Given the description of an element on the screen output the (x, y) to click on. 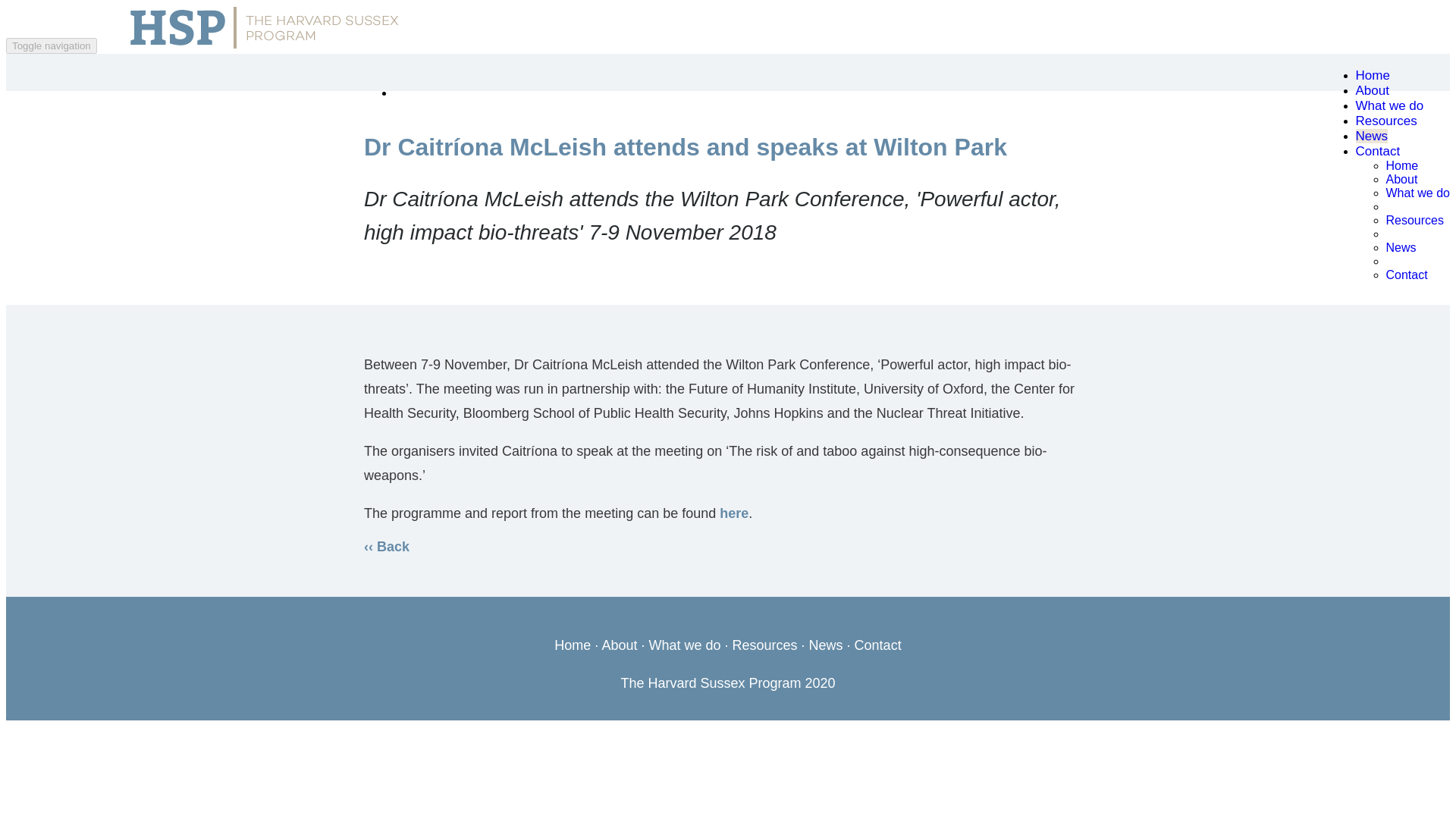
Home (1402, 164)
Toggle navigation (51, 45)
News (1372, 135)
About (1372, 90)
Contact (1377, 151)
Contact (1407, 274)
News (826, 645)
About (1402, 178)
About (619, 645)
WP1625 (733, 513)
Contact (877, 645)
What we do (1389, 105)
Resources (1415, 219)
What we do (683, 645)
here (733, 513)
